Given the description of an element on the screen output the (x, y) to click on. 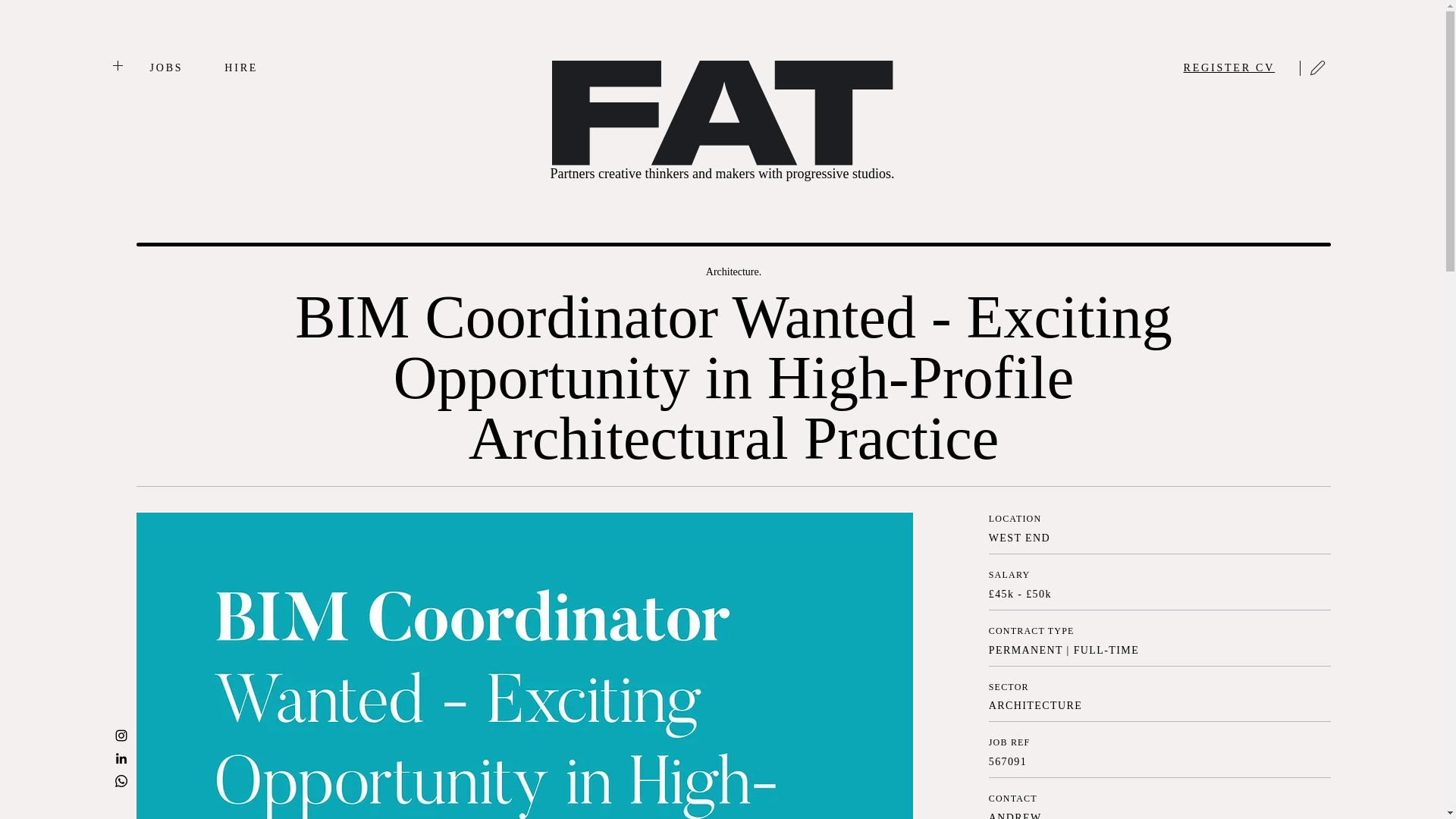
JOBS (166, 67)
ANDREW (1015, 815)
REGISTER CV (1229, 67)
HIRE (240, 67)
